Given the description of an element on the screen output the (x, y) to click on. 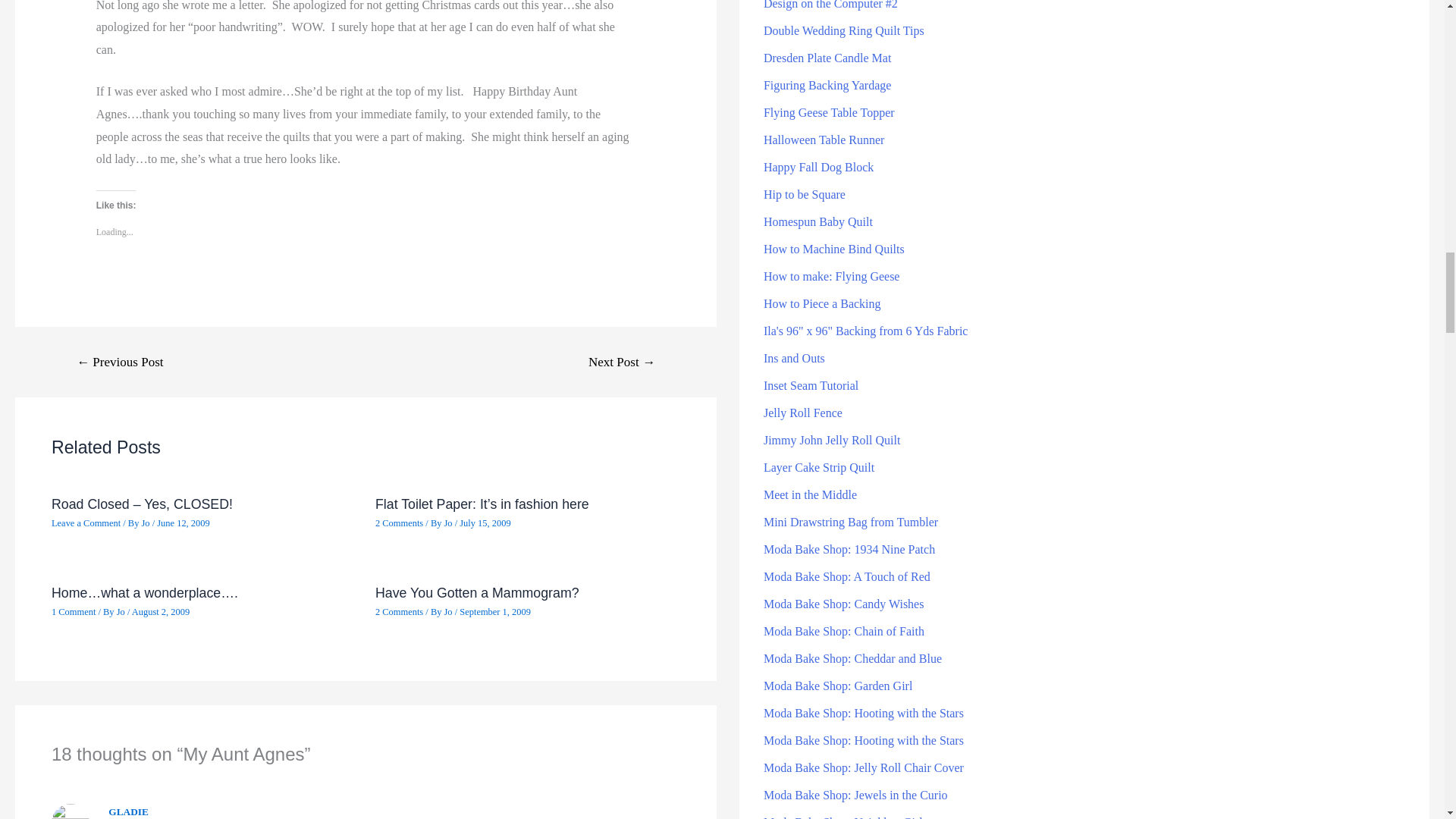
View all posts by Jo (449, 611)
View all posts by Jo (122, 611)
View all posts by Jo (146, 522)
View all posts by Jo (449, 522)
